Given the description of an element on the screen output the (x, y) to click on. 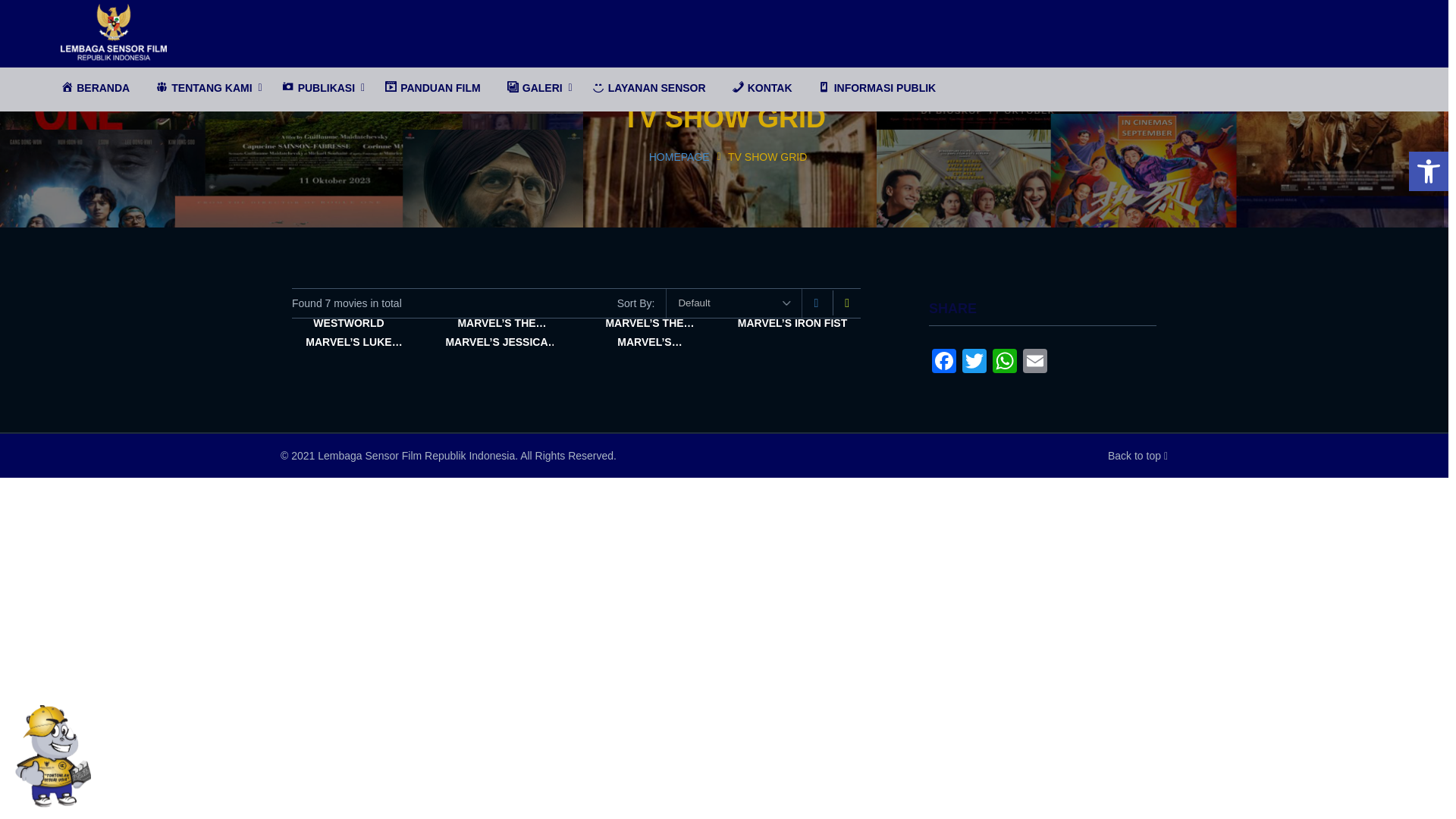
Twitter (974, 362)
PANDUAN FILM (432, 87)
Facebook (943, 362)
LAYANAN SENSOR (648, 87)
PUBLIKASI (319, 87)
Back to top (1137, 455)
Accessibility Tools (1428, 170)
GALERI (536, 87)
TENTANG KAMI (205, 87)
WhatsApp (1005, 362)
